Given the description of an element on the screen output the (x, y) to click on. 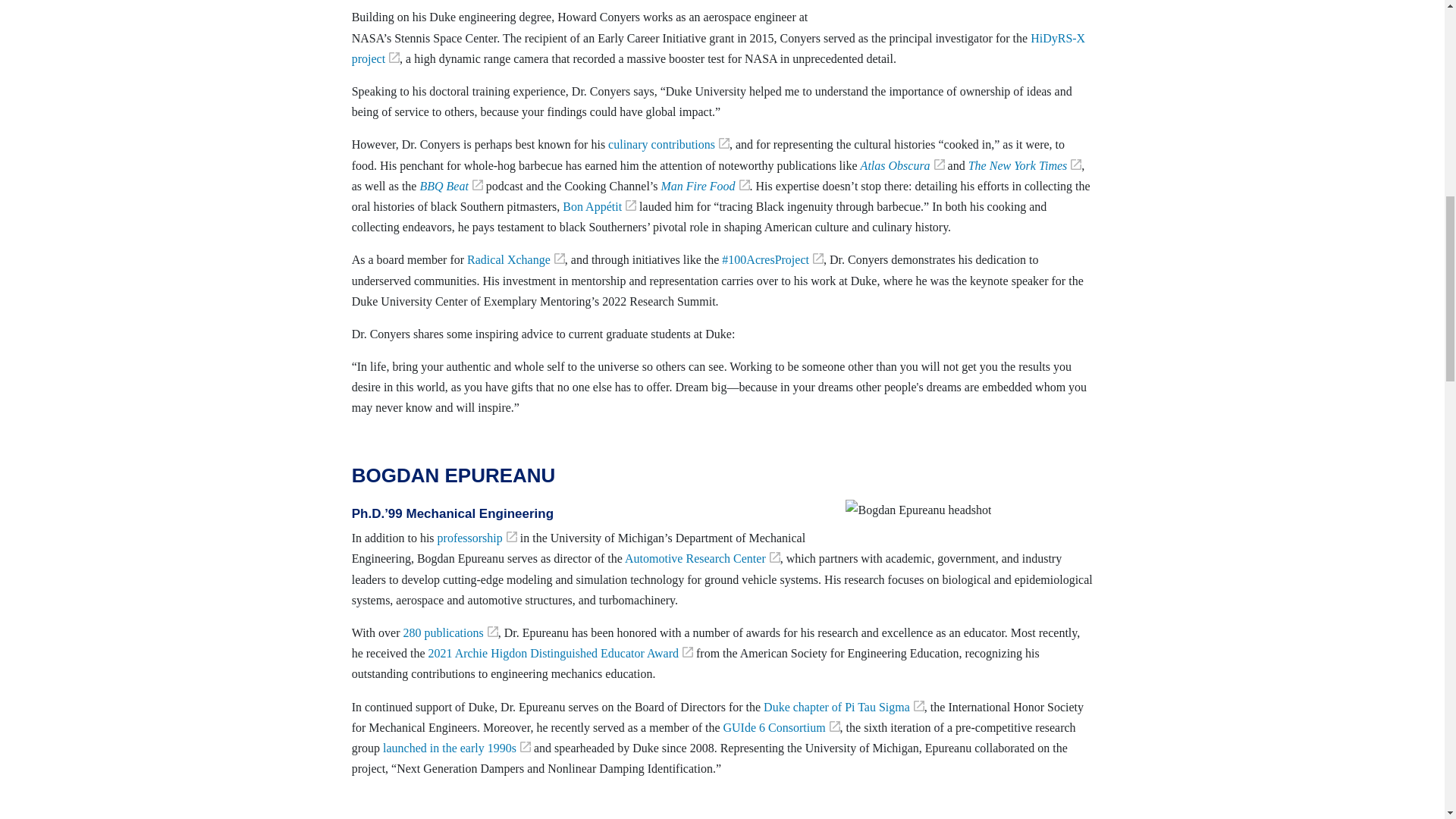
launched in the early 1990s (456, 748)
The New York Times (1024, 164)
HiDyRS-X project (718, 48)
280 publications (450, 632)
GUIde 6 Consortium (781, 727)
Duke chapter of Pi Tau Sigma (843, 707)
Man Fire Food (705, 185)
2021 Archie Higdon Distinguished Educator Award (560, 653)
culinary contributions (668, 144)
professorship (477, 537)
